Given the description of an element on the screen output the (x, y) to click on. 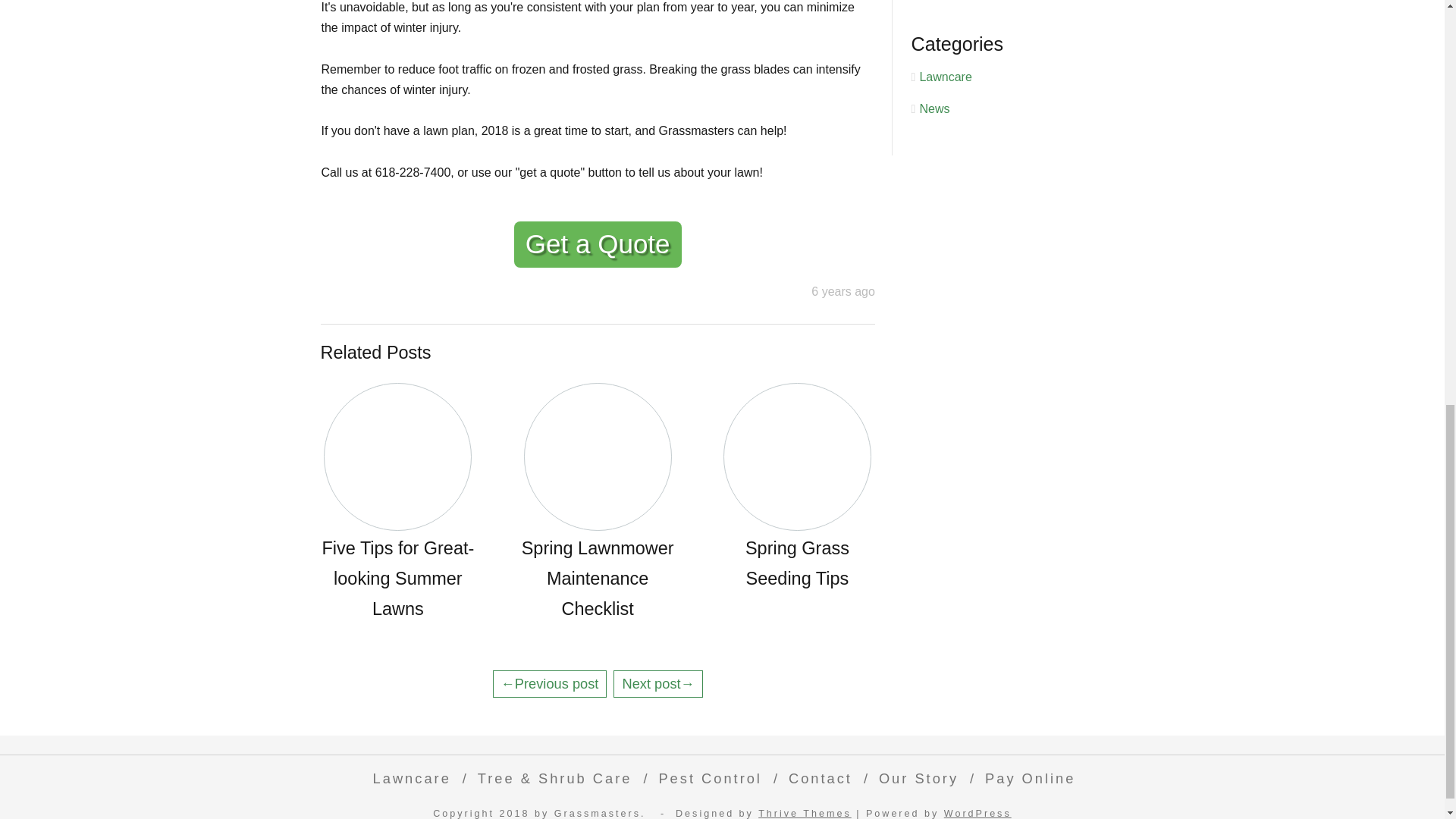
News (933, 108)
Contact (816, 778)
Get a Quote (597, 244)
Lawncare (408, 778)
Our Story (914, 778)
Pest Control (706, 778)
Lawncare (944, 76)
